Given the description of an element on the screen output the (x, y) to click on. 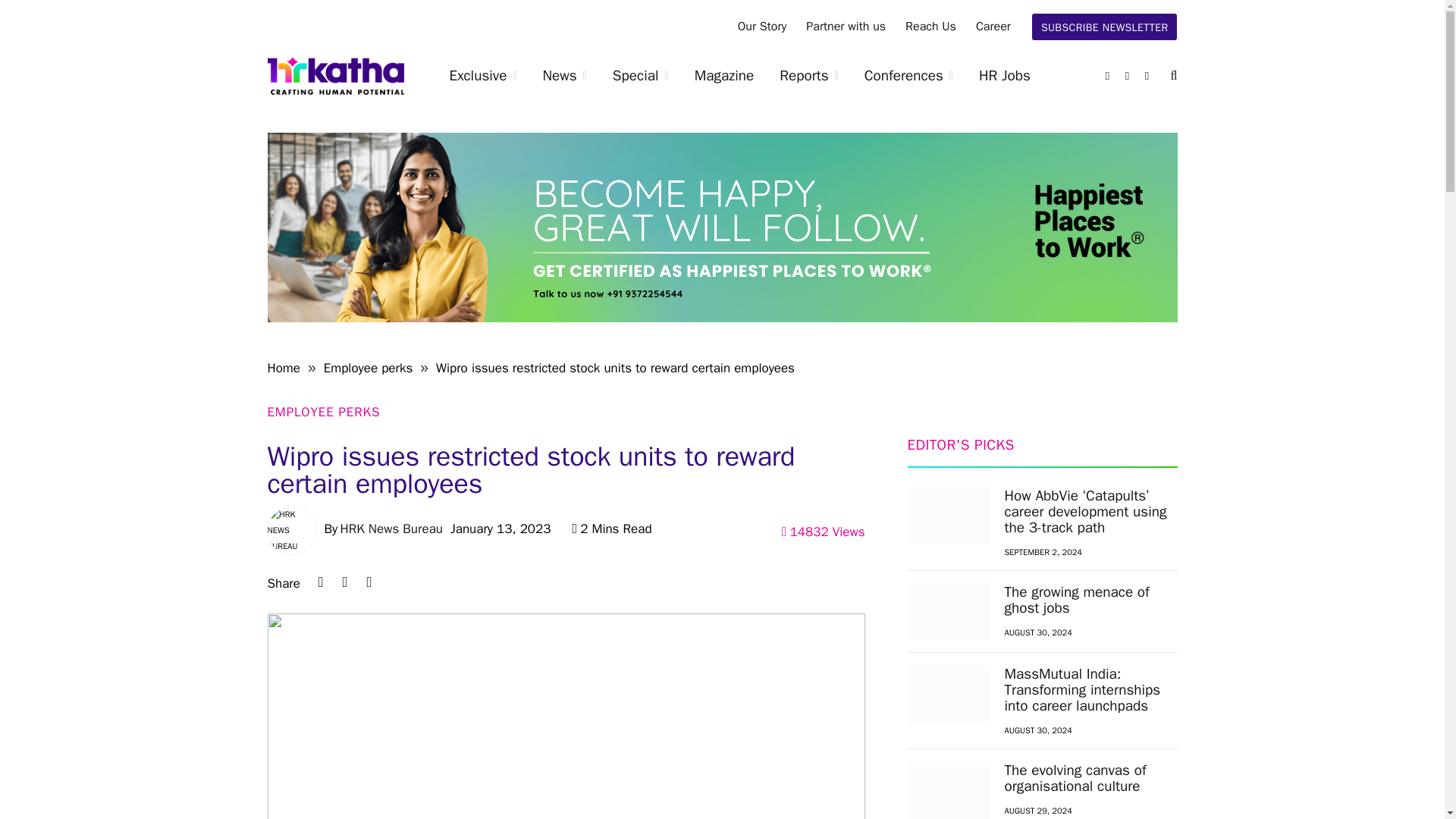
Exclusive (482, 75)
Partner with us (845, 26)
Reach Us (930, 26)
News (564, 75)
SUBSCRIBE NEWSLETTER (1104, 26)
HR Katha (334, 76)
Share on LinkedIn (319, 582)
Career (993, 26)
Share on Facebook (369, 582)
